Given the description of an element on the screen output the (x, y) to click on. 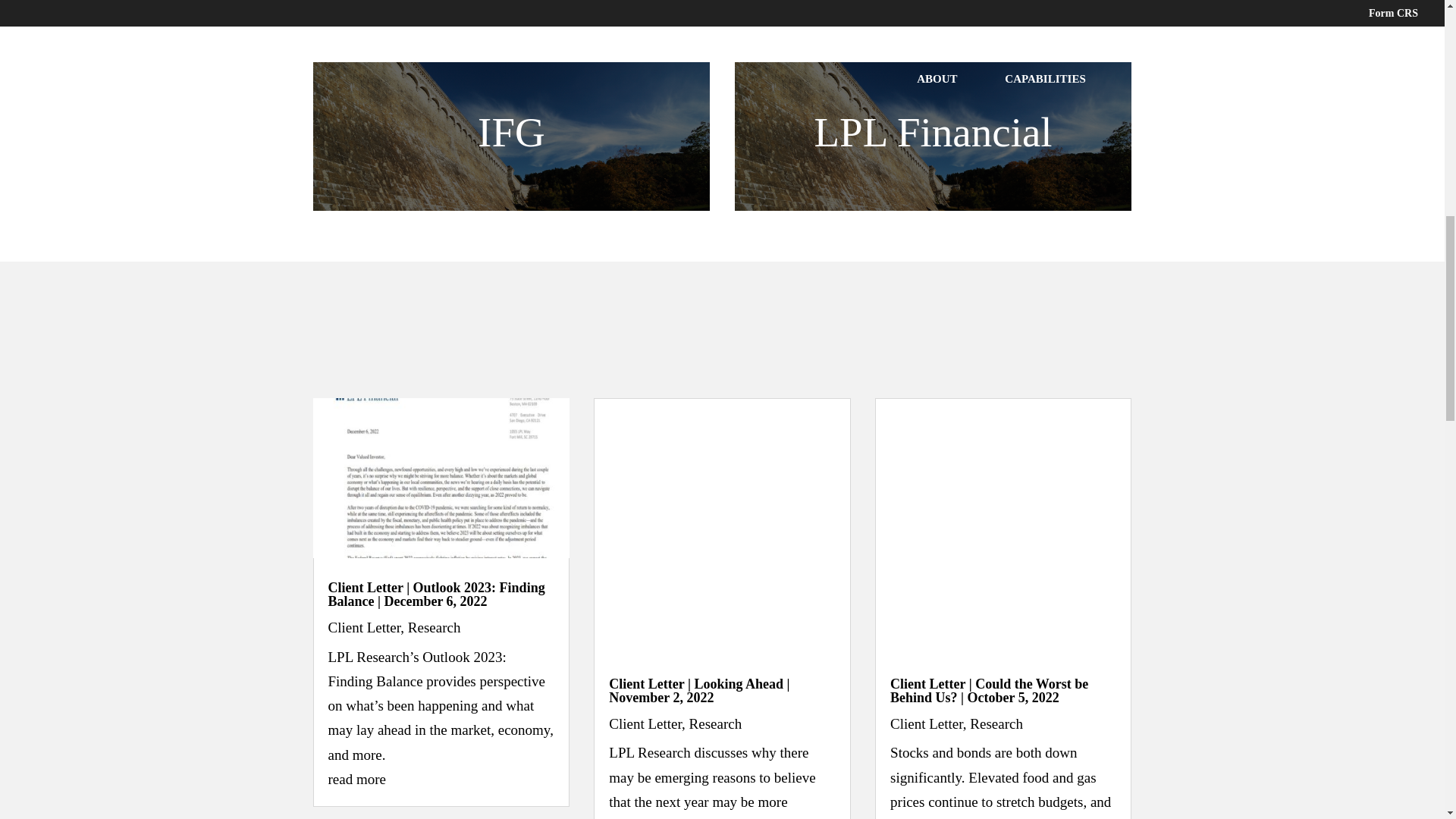
Research (434, 627)
Client Letter (925, 723)
Research (996, 723)
Client Letter (363, 627)
read more (356, 779)
Client Letter (644, 723)
Research (715, 723)
